Given the description of an element on the screen output the (x, y) to click on. 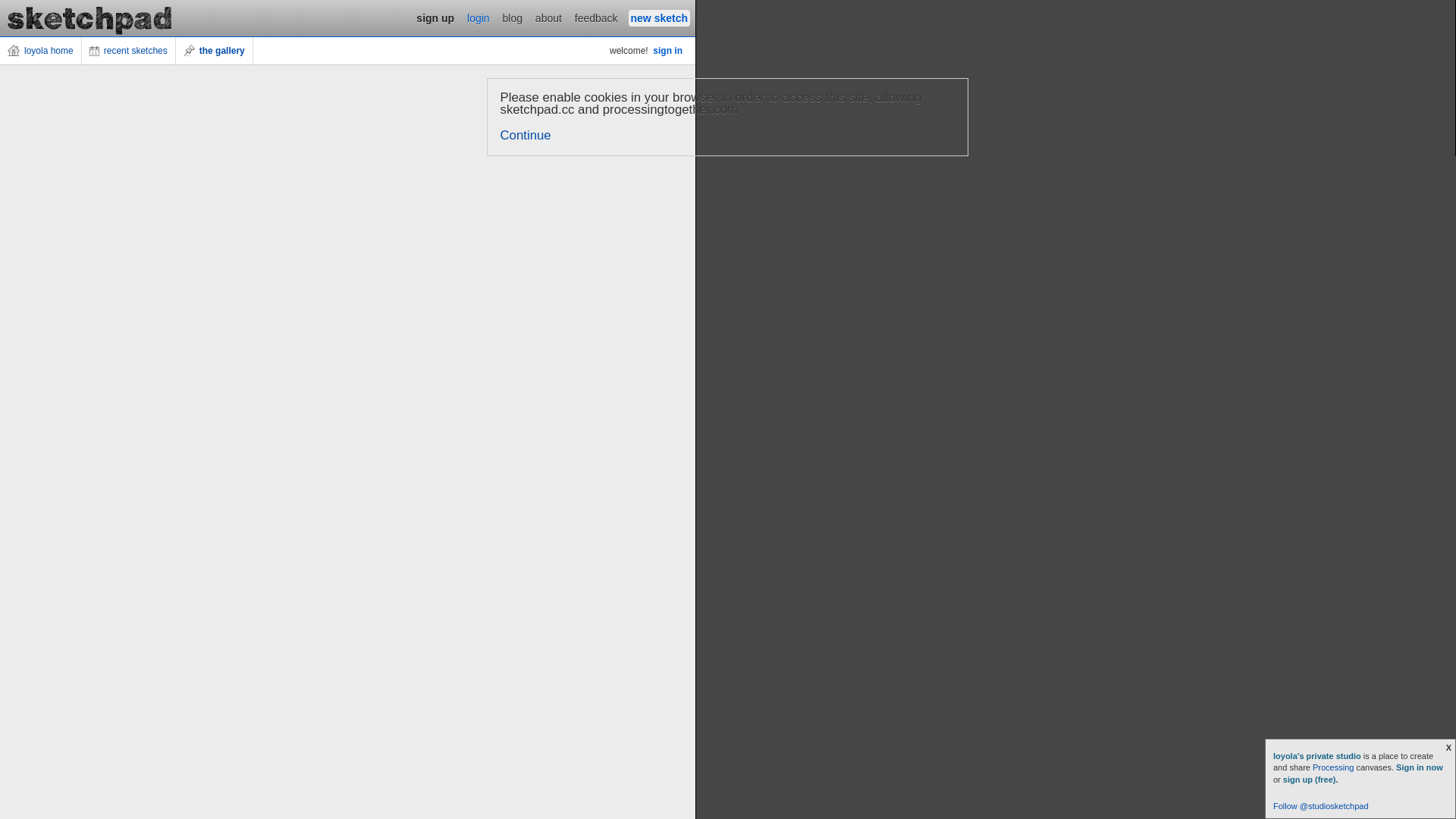
login Element type: text (478, 17)
new sketch Element type: text (659, 17)
sign up (free) Element type: text (1309, 779)
Follow @studiosketchpad Element type: text (1320, 805)
Sign in now Element type: text (1419, 766)
about Element type: text (548, 17)
the gallery Element type: text (214, 50)
sign in Element type: text (667, 50)
Processing Element type: text (1332, 766)
Studio Sketchpad is Processing on Etherpad Element type: hover (90, 18)
feedback Element type: text (596, 17)
recent sketches Element type: text (128, 50)
blog Element type: text (512, 17)
sign up Element type: text (435, 17)
loyola home Element type: text (40, 50)
loyola's private studio Element type: text (1318, 755)
Continue Element type: text (525, 135)
